Given the description of an element on the screen output the (x, y) to click on. 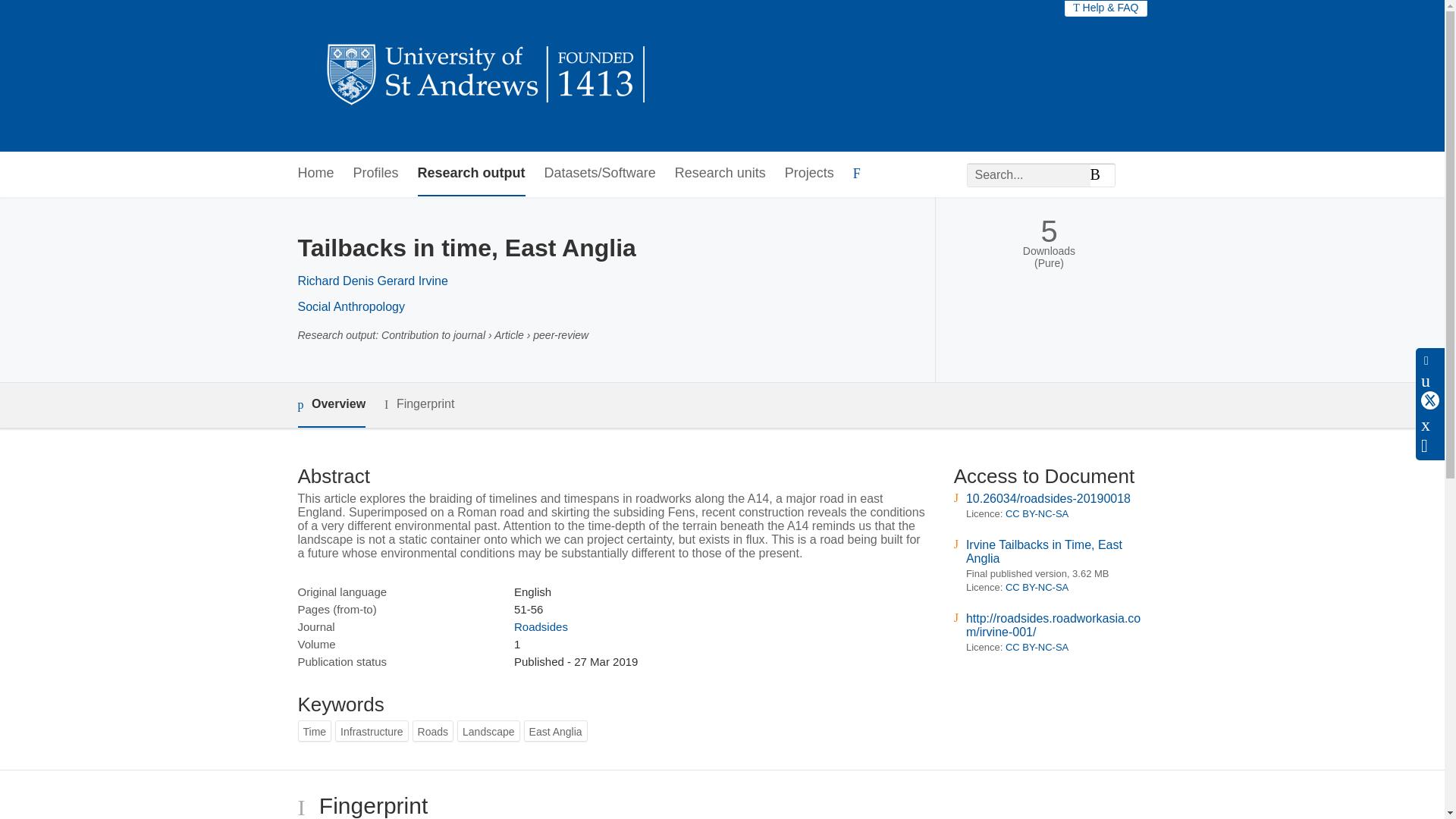
Research units (720, 173)
Profiles (375, 173)
CC BY-NC-SA (1037, 646)
Irvine Tailbacks in Time, East Anglia (1044, 551)
CC BY-NC-SA (1037, 586)
Research output (471, 173)
Projects (809, 173)
CC BY-NC-SA (1037, 513)
University of St Andrews Research Portal Home (487, 75)
